Given the description of an element on the screen output the (x, y) to click on. 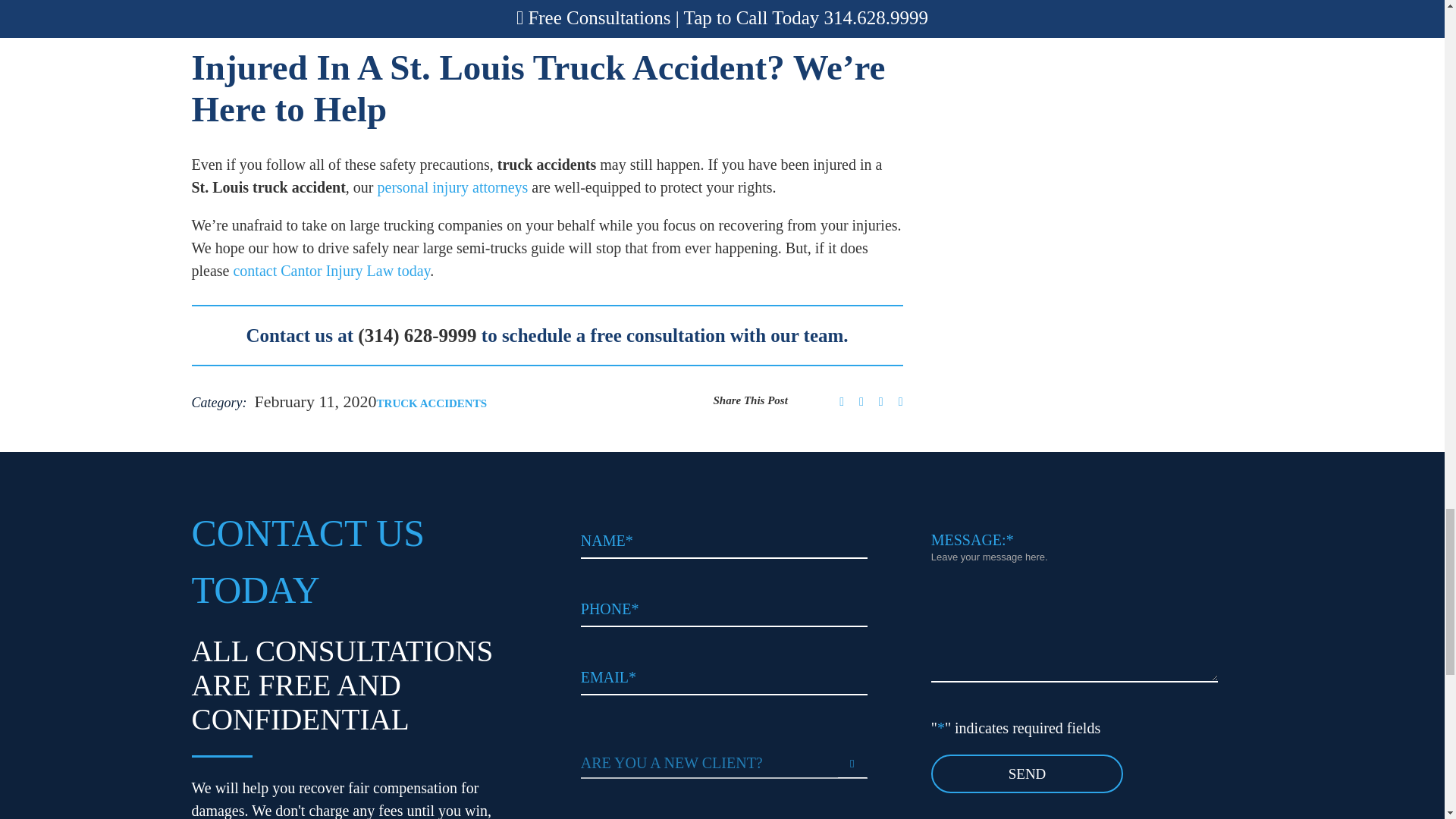
Send (1027, 773)
